Given the description of an element on the screen output the (x, y) to click on. 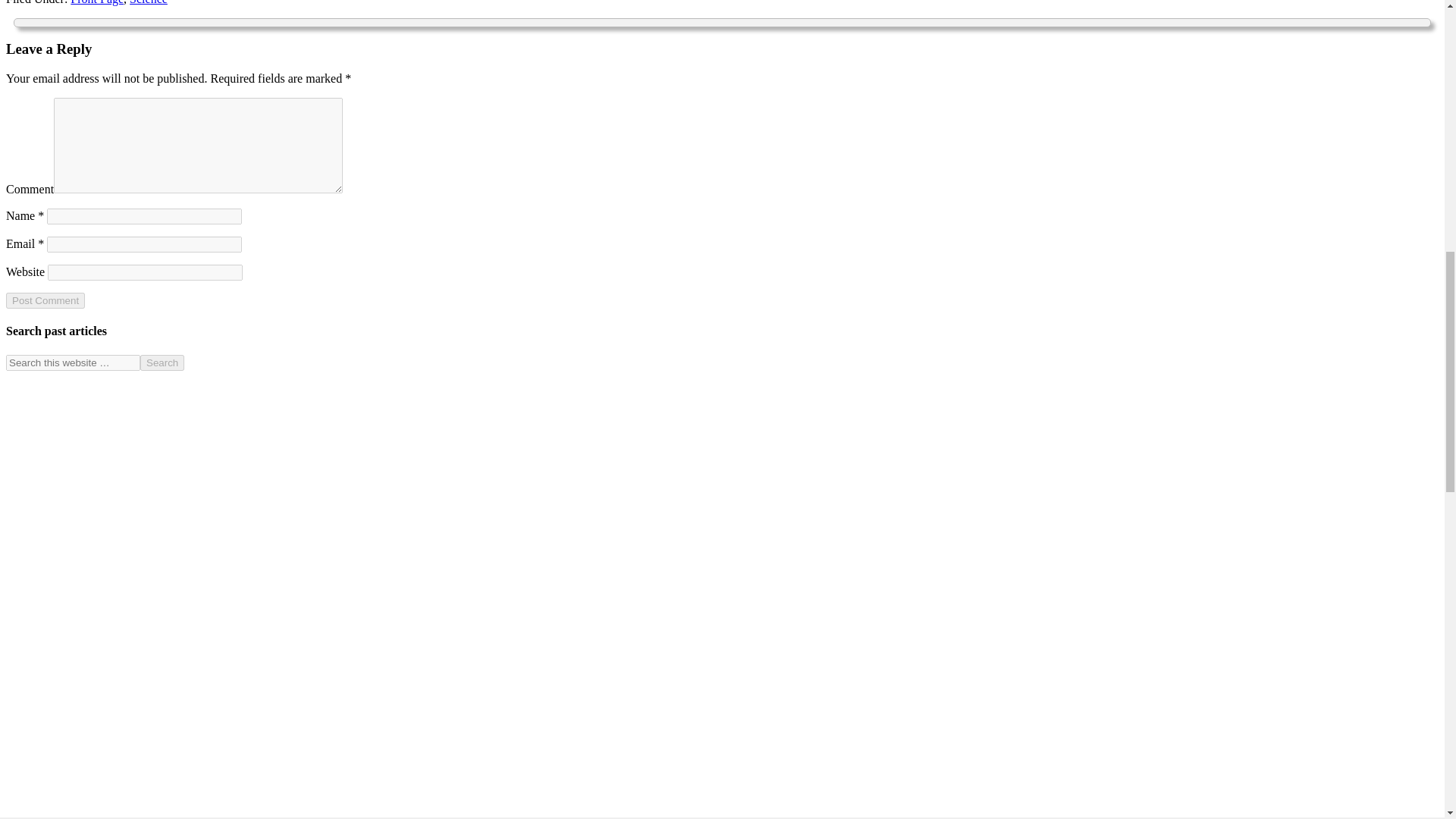
Post Comment (44, 300)
Search (161, 362)
Science (148, 2)
Search (161, 362)
Post Comment (44, 300)
Front Page (96, 2)
